Given the description of an element on the screen output the (x, y) to click on. 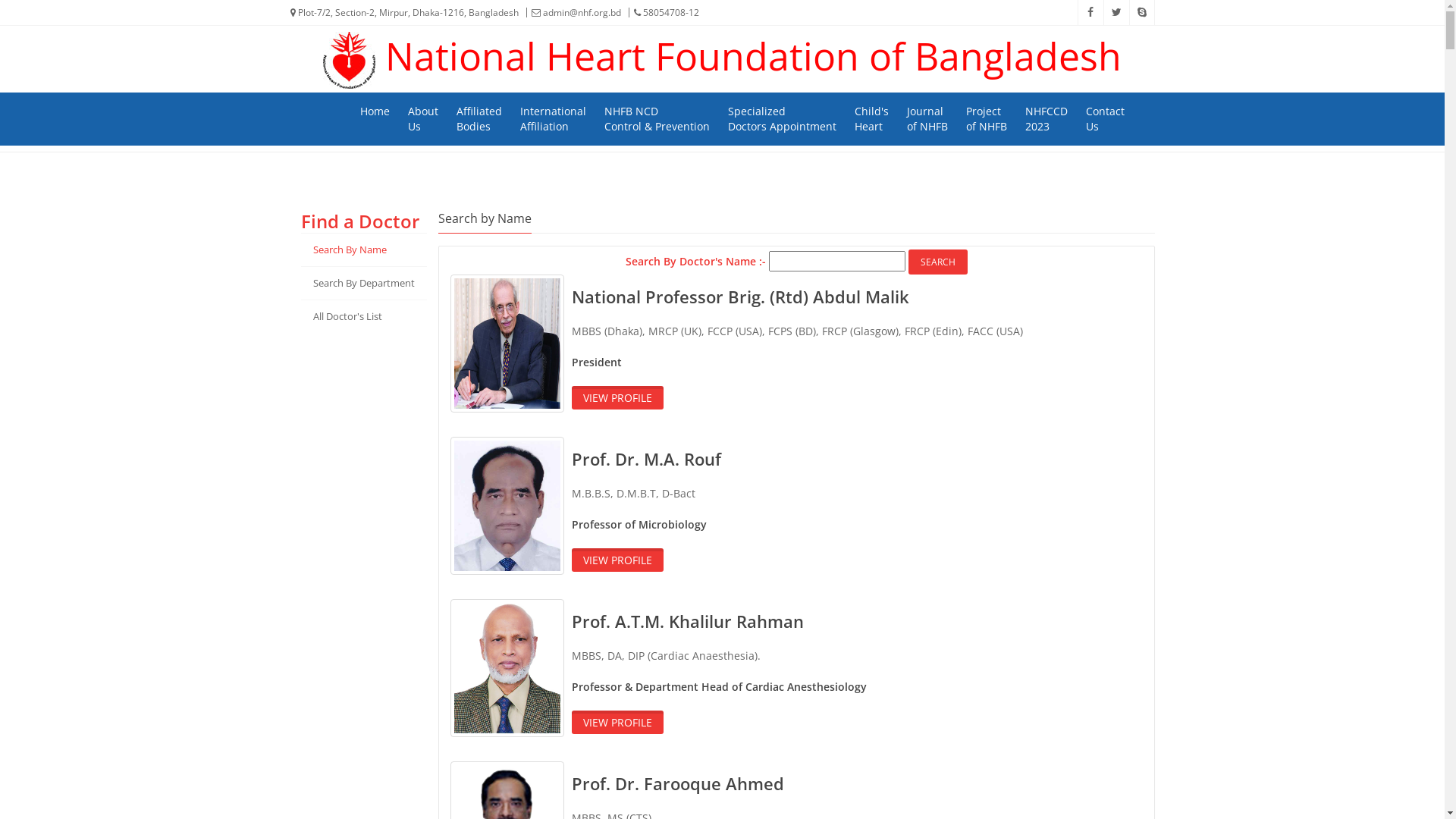
Plot-7/2, Section-2, Mirpur, Dhaka-1216, Bangladesh Element type: text (403, 12)
VIEW PROFILE Element type: text (617, 722)
Journal
of NHFB Element type: text (926, 118)
Search By Name Element type: text (363, 249)
International
Affiliation Element type: text (552, 118)
Search Element type: text (937, 261)
Contact
Us Element type: text (1104, 118)
admin@nhf.org.bd Element type: text (571, 12)
Project
of NHFB Element type: text (985, 118)
Specialized
Doctors Appointment Element type: text (781, 118)
Child's
Heart Element type: text (871, 118)
All Doctor'S List Element type: text (363, 316)
58054708-12 Element type: text (660, 12)
VIEW PROFILE Element type: text (617, 397)
VIEW PROFILE Element type: text (617, 559)
Home Element type: text (374, 111)
Search By Department Element type: text (363, 282)
NHFCCD
2023 Element type: text (1045, 118)
About
Us Element type: text (421, 118)
Affiliated
Bodies Element type: text (478, 118)
NHFB NCD
Control & Prevention Element type: text (657, 118)
